Given the description of an element on the screen output the (x, y) to click on. 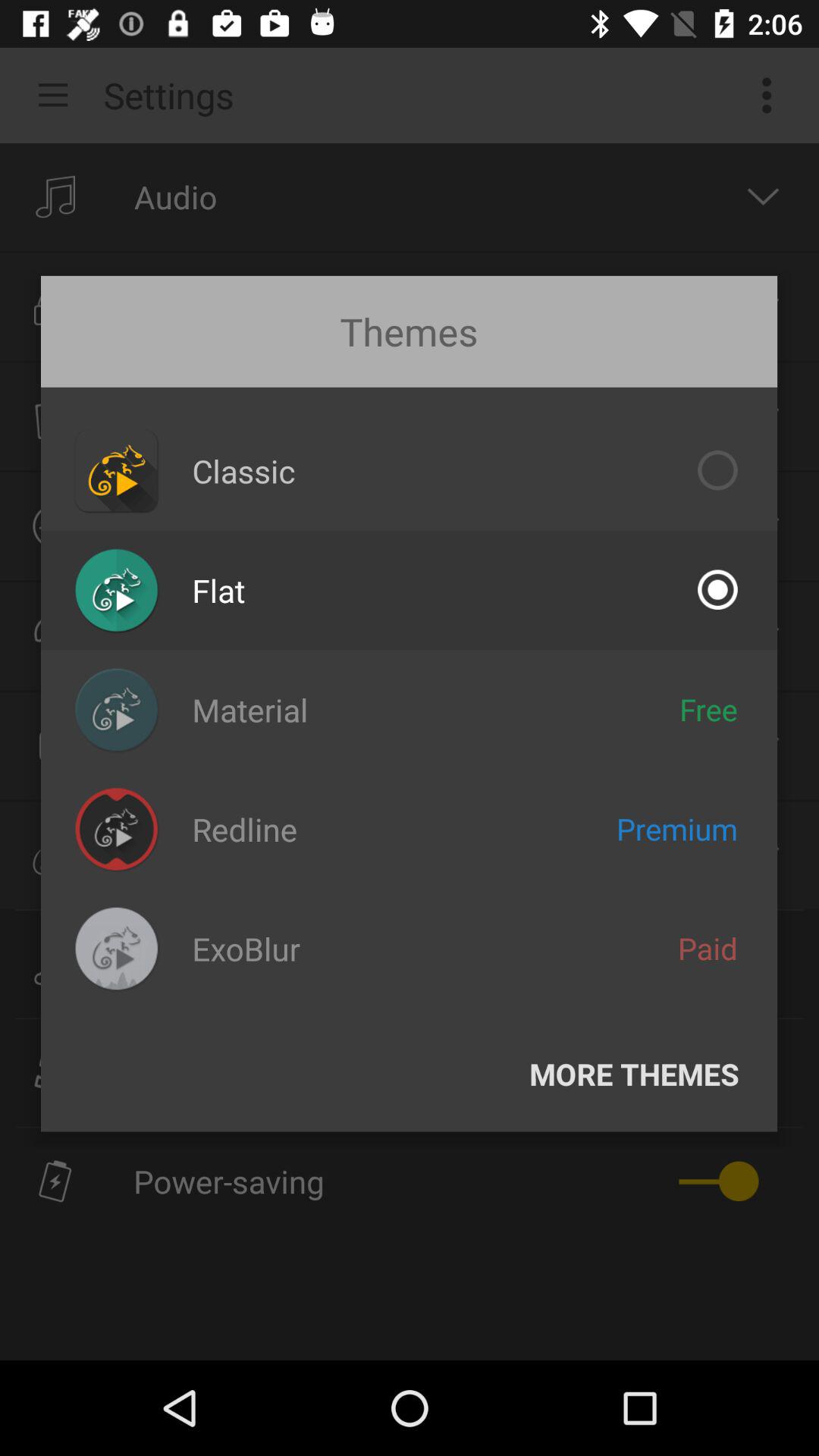
choose item above premium icon (708, 709)
